Given the description of an element on the screen output the (x, y) to click on. 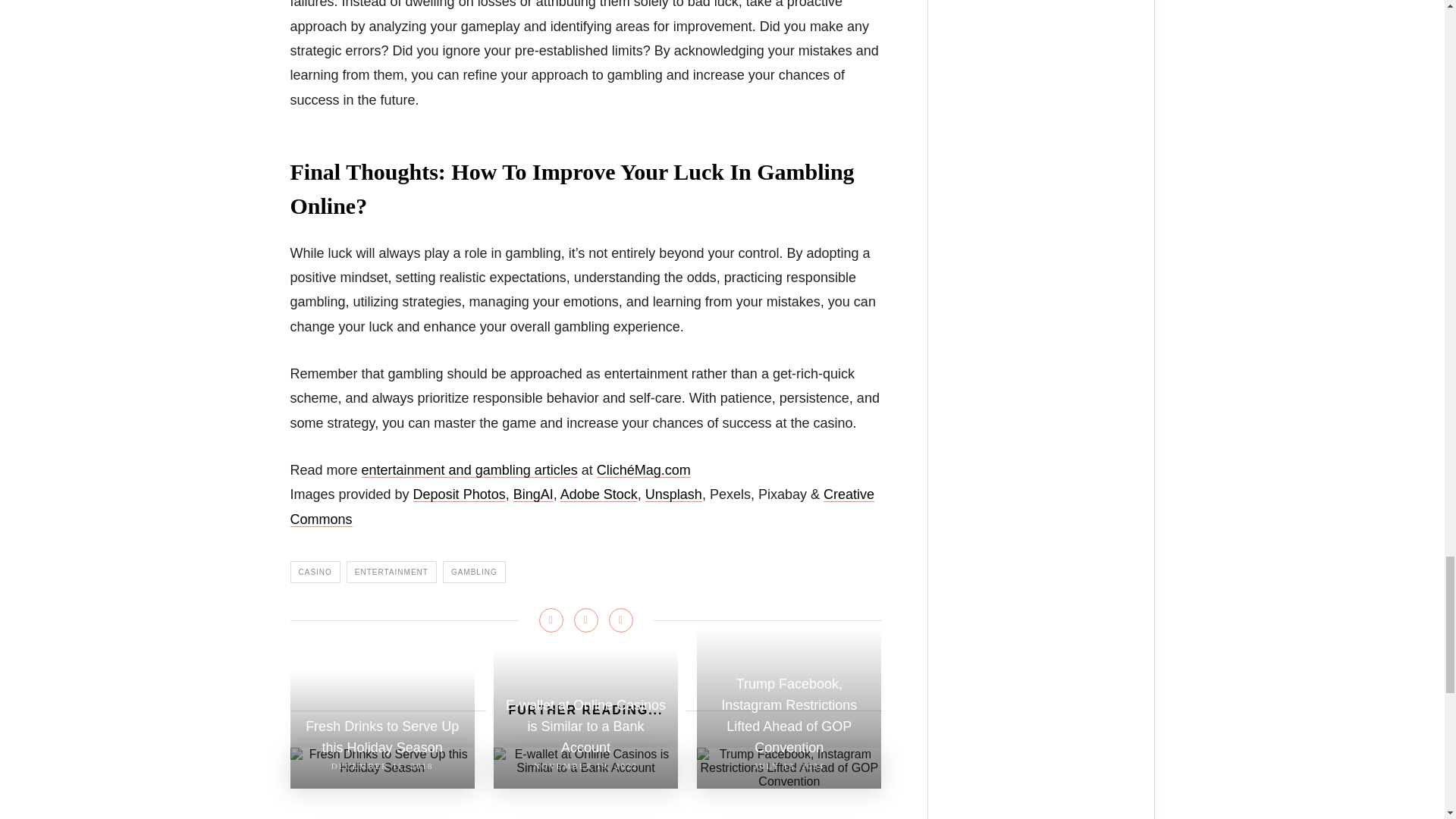
E-wallet at Online Casinos is Similar to a Bank Account (585, 760)
Fresh Drinks to Serve Up this Holiday Season (381, 760)
